Given the description of an element on the screen output the (x, y) to click on. 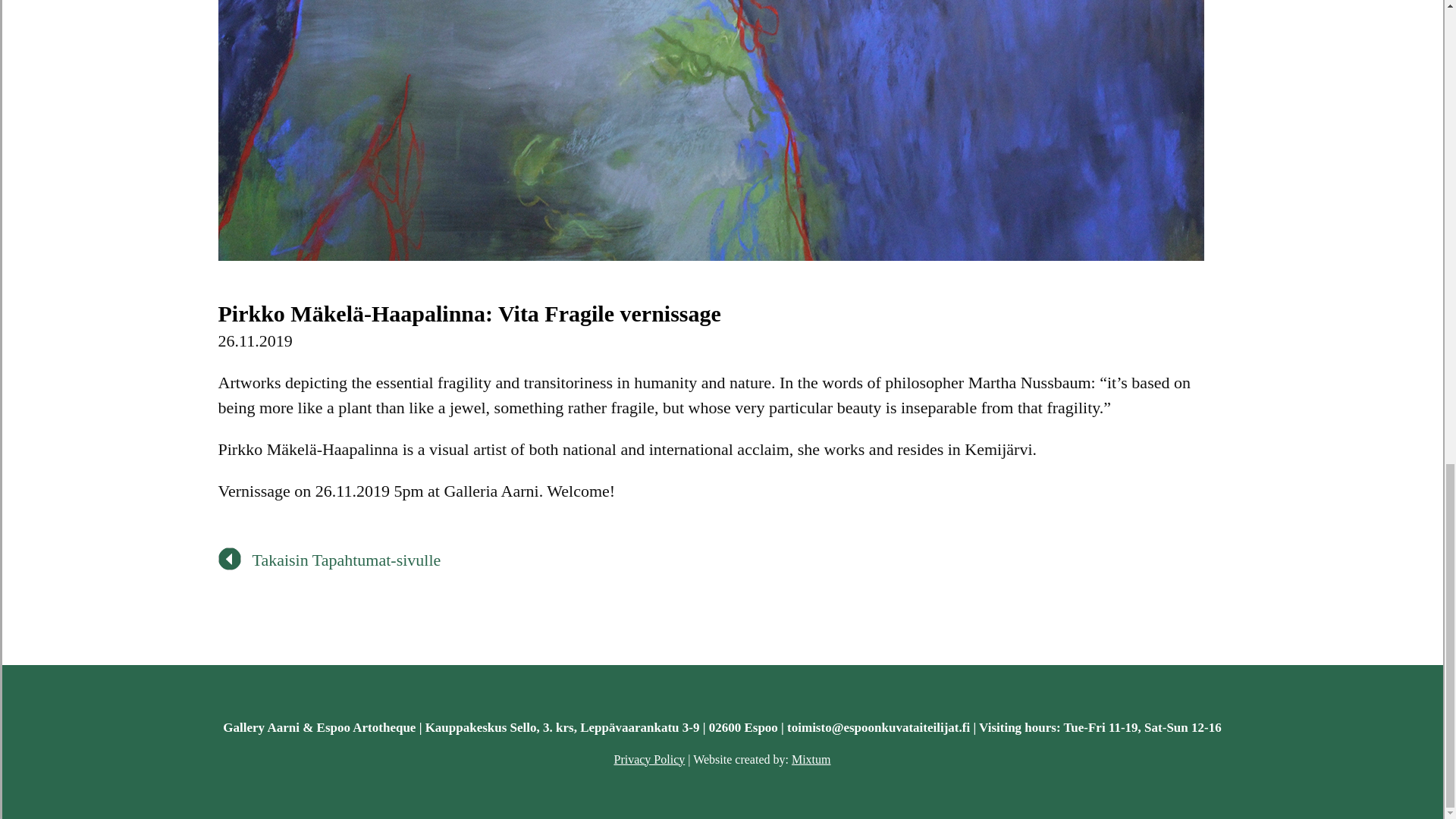
Privacy Policy (648, 758)
Takaisin Tapahtumat-sivulle (329, 559)
Mixtum (811, 758)
Developing customized WordPress pages - Mixtum (811, 758)
